Given the description of an element on the screen output the (x, y) to click on. 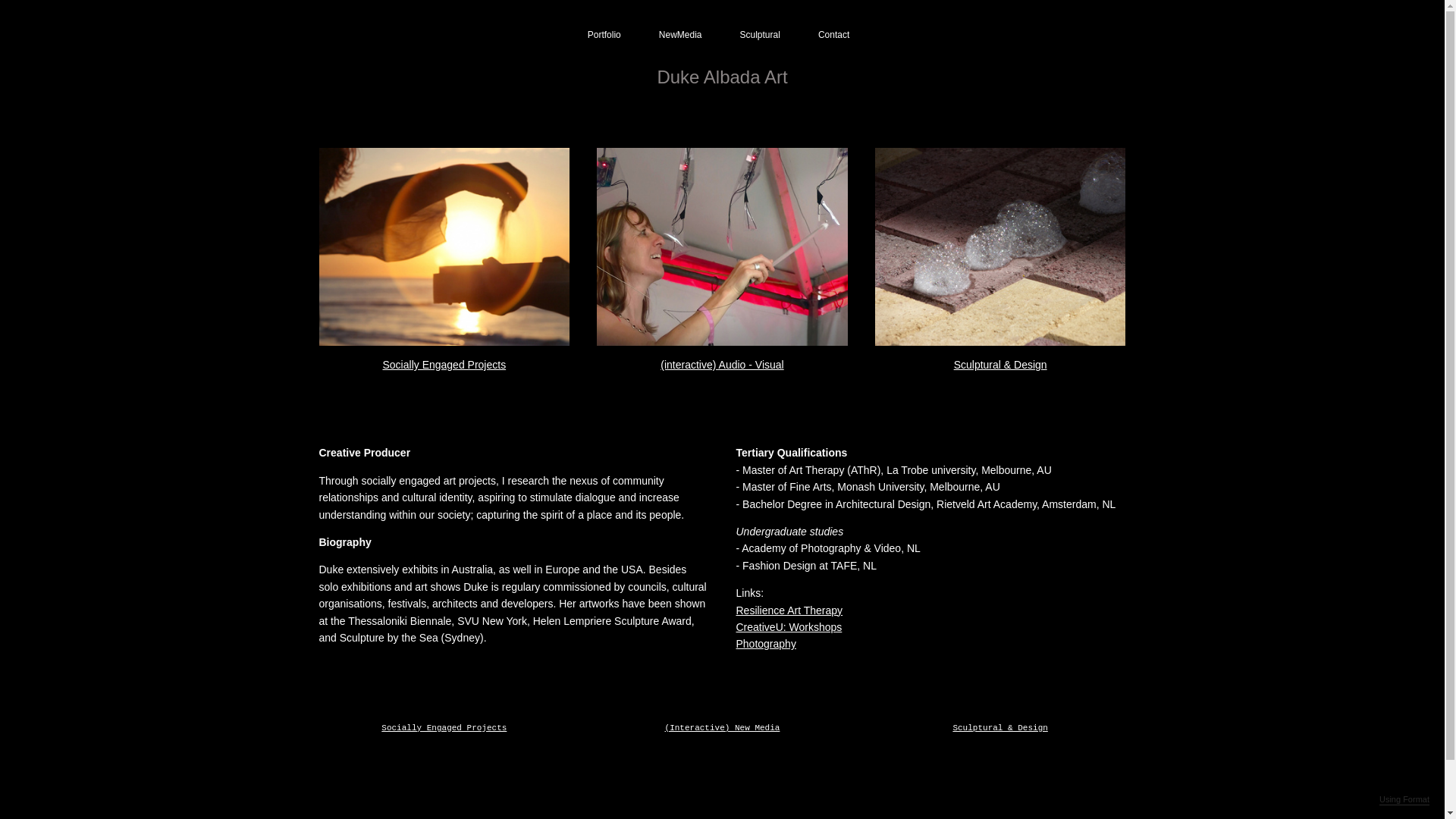
(interactive) Audio - Visual Element type: text (721, 364)
Sculptural Element type: text (760, 34)
Portfolio Element type: text (604, 34)
Socially Engaged Projects Element type: text (443, 364)
Using Format Element type: text (1404, 799)
Sculptural & Design Element type: text (1000, 364)
Photography Element type: text (765, 643)
Duke Albada Art Element type: text (721, 76)
Resilience Art Therapy Element type: text (788, 610)
NewMedia Element type: text (680, 34)
CreativeU: Workshops Element type: text (788, 627)
Socially Engaged Projects Element type: text (443, 727)
Contact Element type: text (833, 34)
Sculptural & Design Element type: text (999, 727)
(Interactive) New Media Element type: text (722, 727)
